Given the description of an element on the screen output the (x, y) to click on. 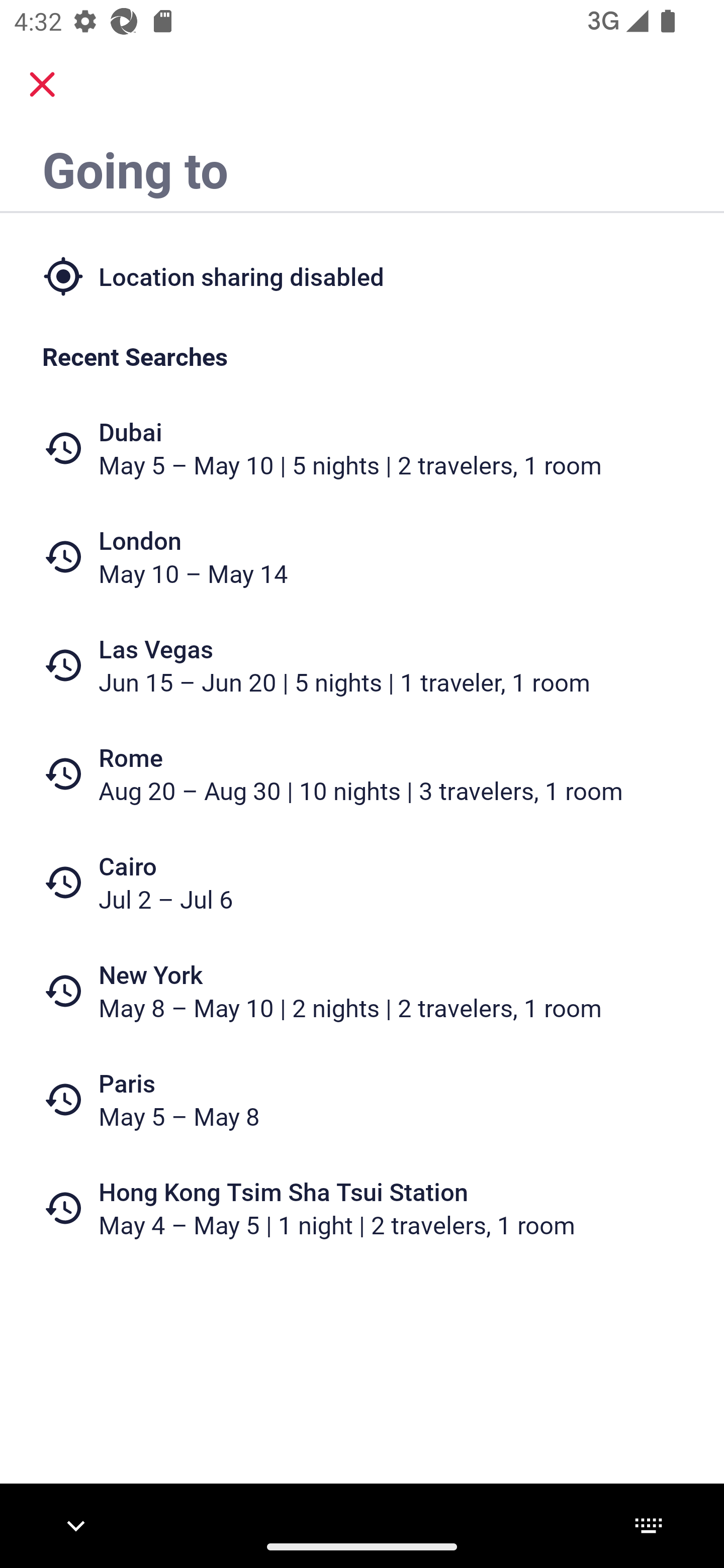
close. (42, 84)
Location sharing disabled (362, 275)
London May 10 – May 14 (362, 557)
Cairo Jul 2 – Jul 6 (362, 881)
Paris May 5 – May 8 (362, 1099)
